Given the description of an element on the screen output the (x, y) to click on. 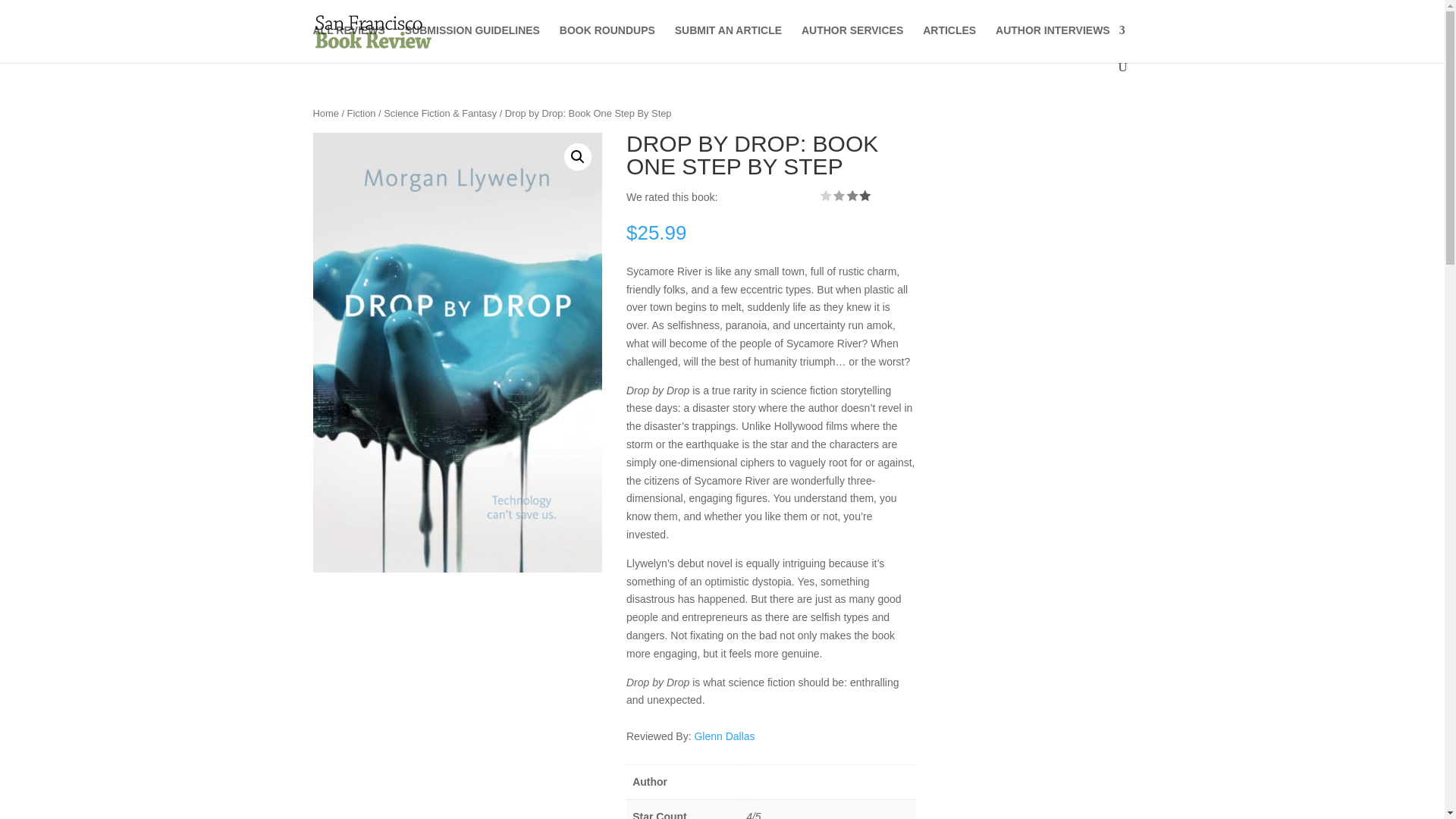
ALL REVIEWS (348, 42)
Fiction (361, 112)
ARTICLES (949, 42)
SUBMISSION GUIDELINES (472, 42)
Glenn Dallas (724, 736)
SUBMIT AN ARTICLE (728, 42)
AUTHOR INTERVIEWS (1060, 42)
BOOK ROUNDUPS (607, 42)
Home (325, 112)
AUTHOR SERVICES (852, 42)
